Given the description of an element on the screen output the (x, y) to click on. 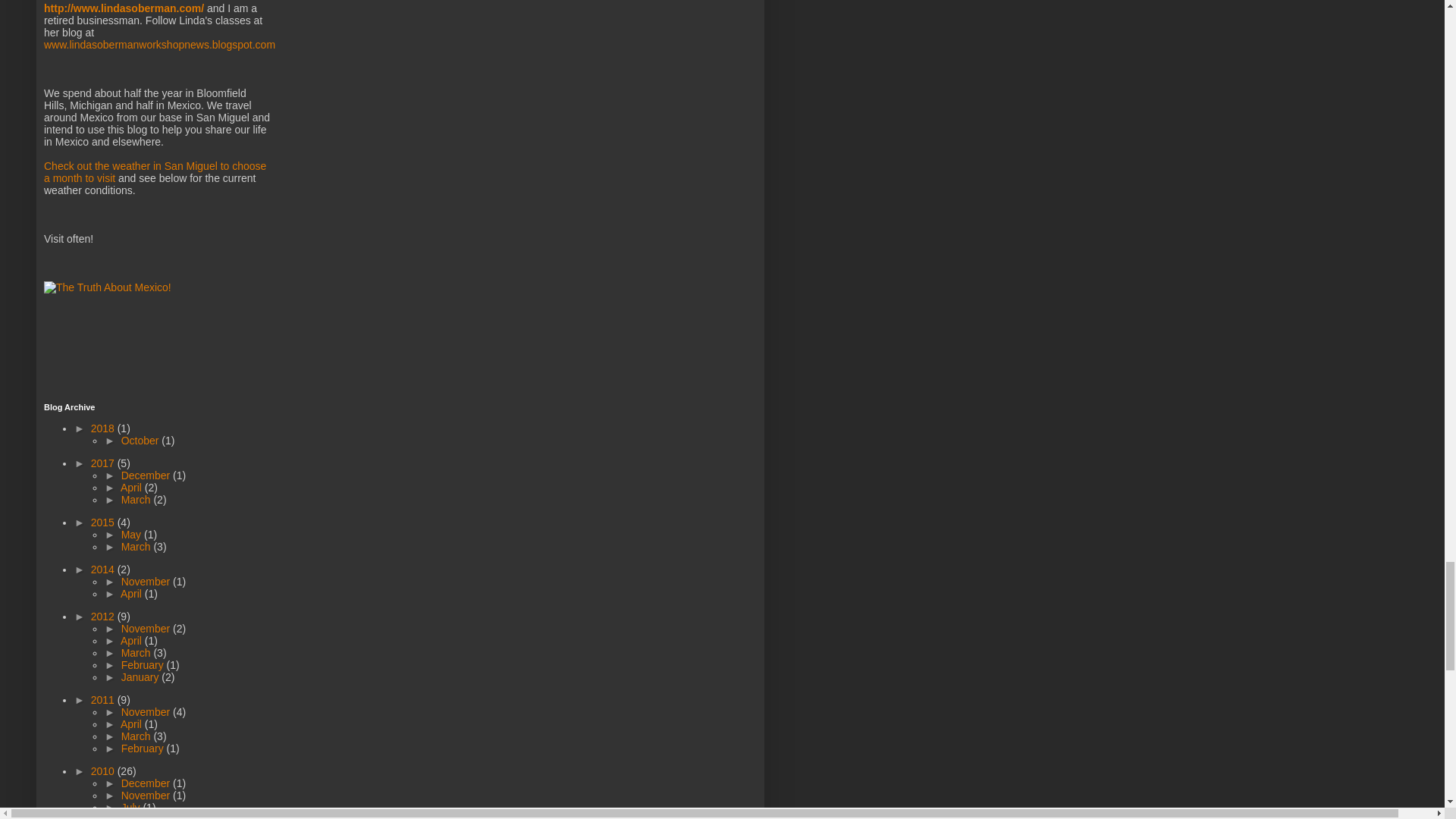
2017 (103, 463)
2018 (103, 428)
October (140, 440)
www.lindasobermanworkshopnews.blogspot.com (159, 44)
December (146, 475)
